Given the description of an element on the screen output the (x, y) to click on. 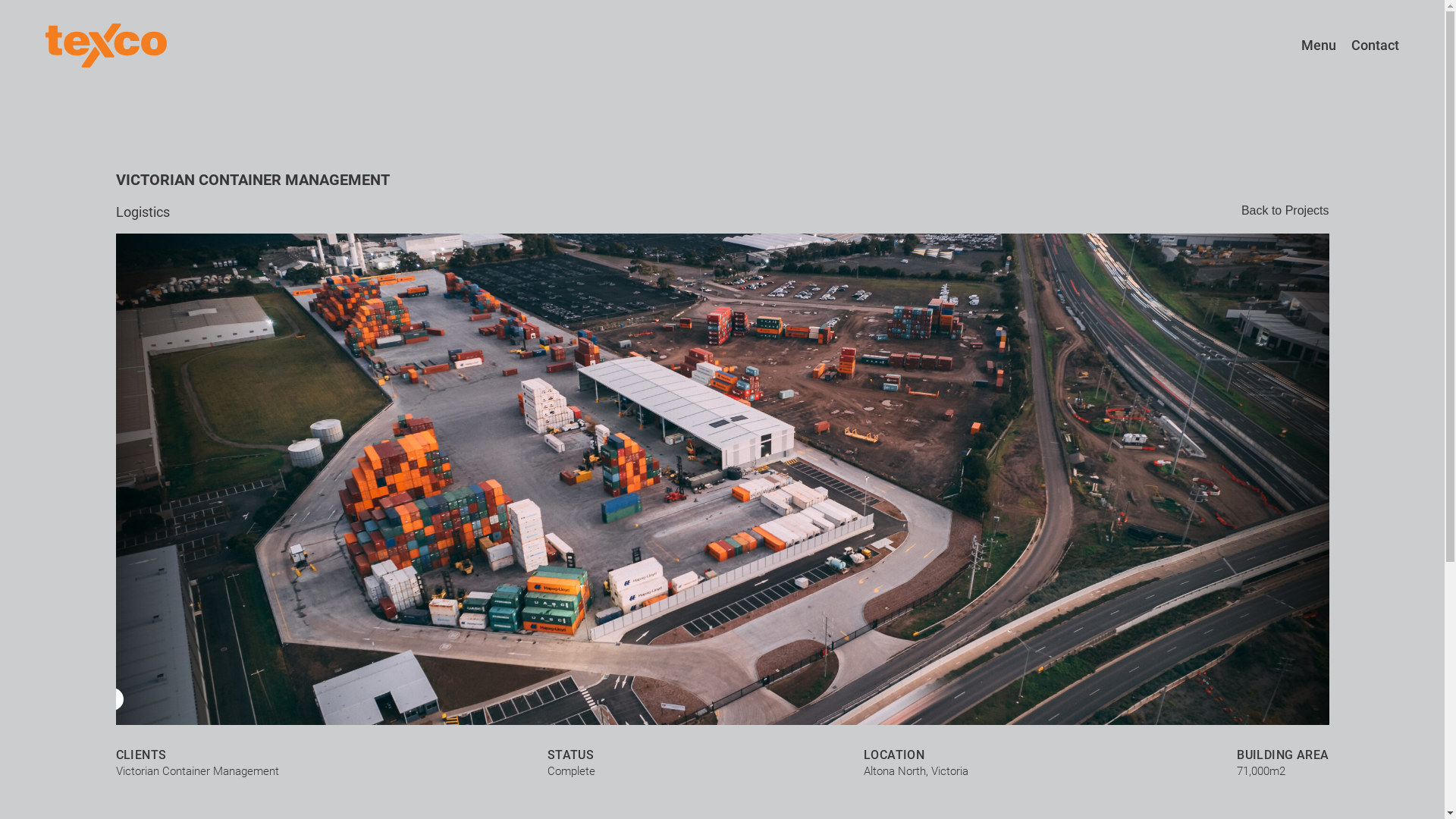
Back to Projects Element type: text (1285, 217)
3 Element type: text (141, 698)
Menu Element type: text (1311, 45)
2 Element type: text (126, 698)
1 Element type: text (111, 698)
Contact Element type: text (1367, 45)
